Given the description of an element on the screen output the (x, y) to click on. 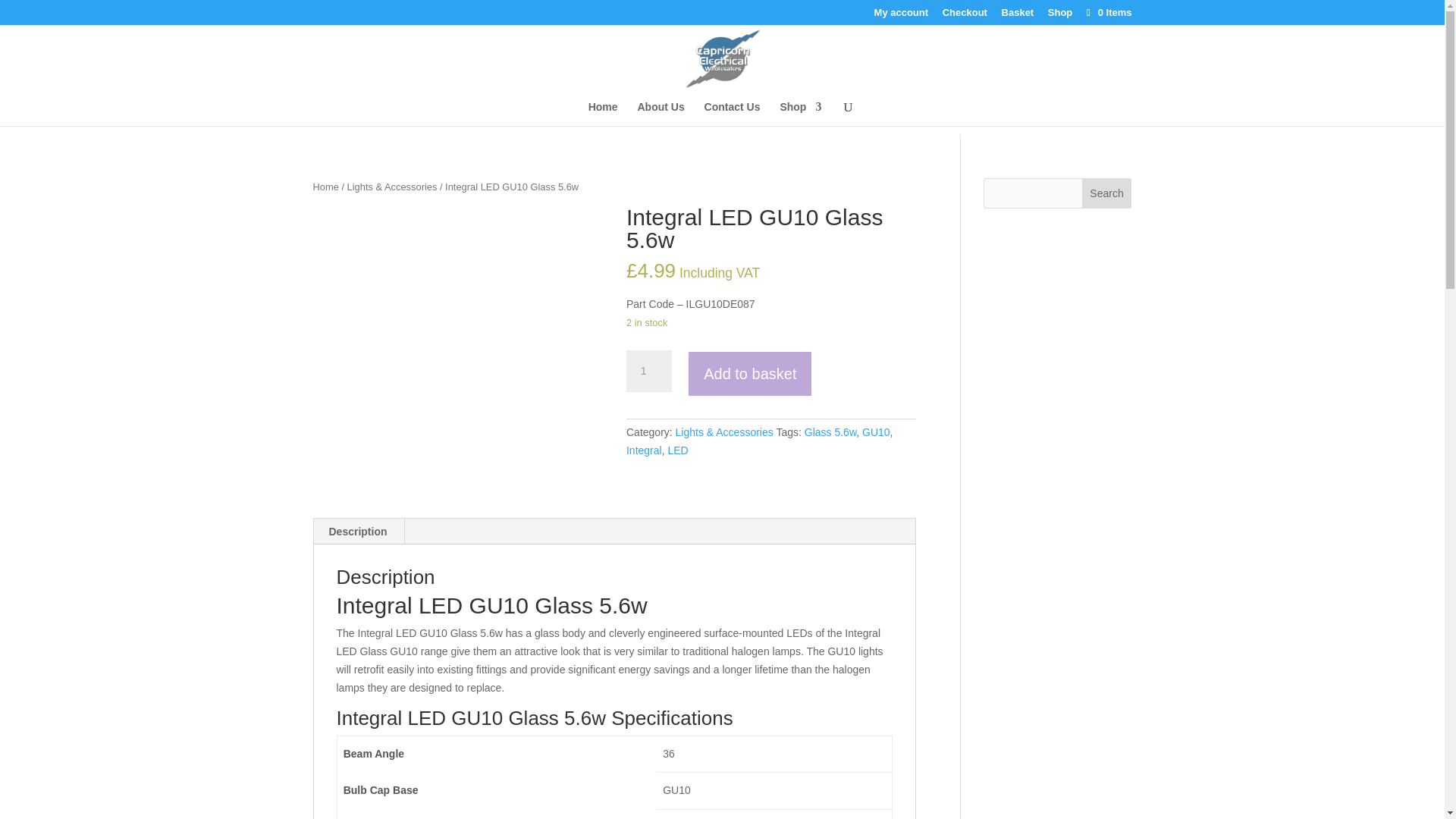
Description (358, 531)
0 Items (1107, 12)
GU10 (875, 431)
Contact Us (732, 113)
Shop (1060, 16)
Checkout (964, 16)
About Us (660, 113)
LED (676, 450)
Shop (799, 113)
Home (325, 186)
